Given the description of an element on the screen output the (x, y) to click on. 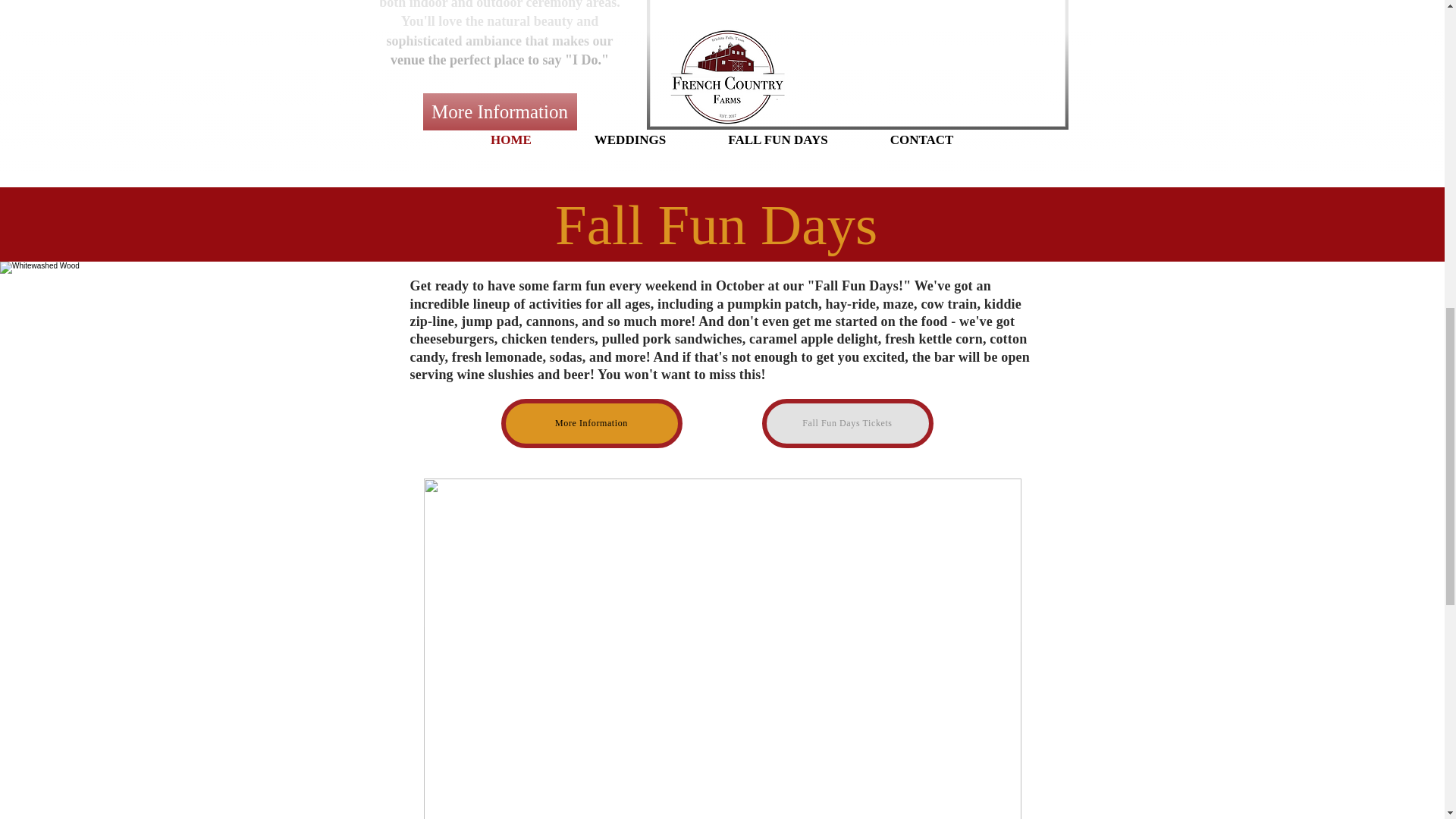
Fall Fun Days Tickets (847, 422)
More Information (590, 422)
Fall Fun Days  (722, 224)
More Information (499, 111)
